Given the description of an element on the screen output the (x, y) to click on. 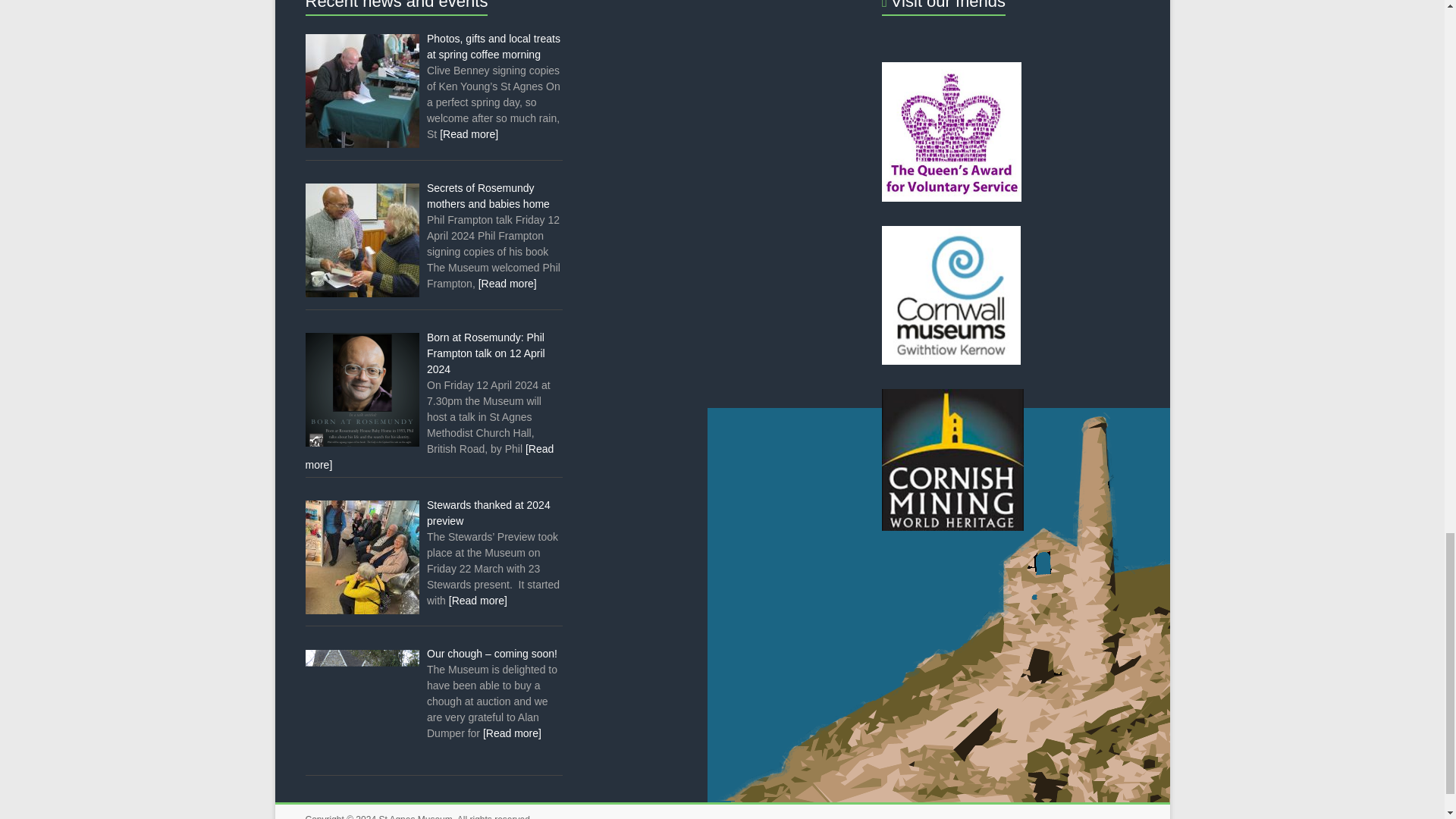
Secrets of Rosemundy mothers and babies home (488, 195)
St Agnes Museum (414, 816)
St Agnes Museum (414, 816)
Stewards thanked at 2024 preview (488, 512)
Photos, gifts and local treats at spring coffee morning (493, 46)
Born at Rosemundy: Phil Frampton talk on 12 April 2024 (485, 353)
